Given the description of an element on the screen output the (x, y) to click on. 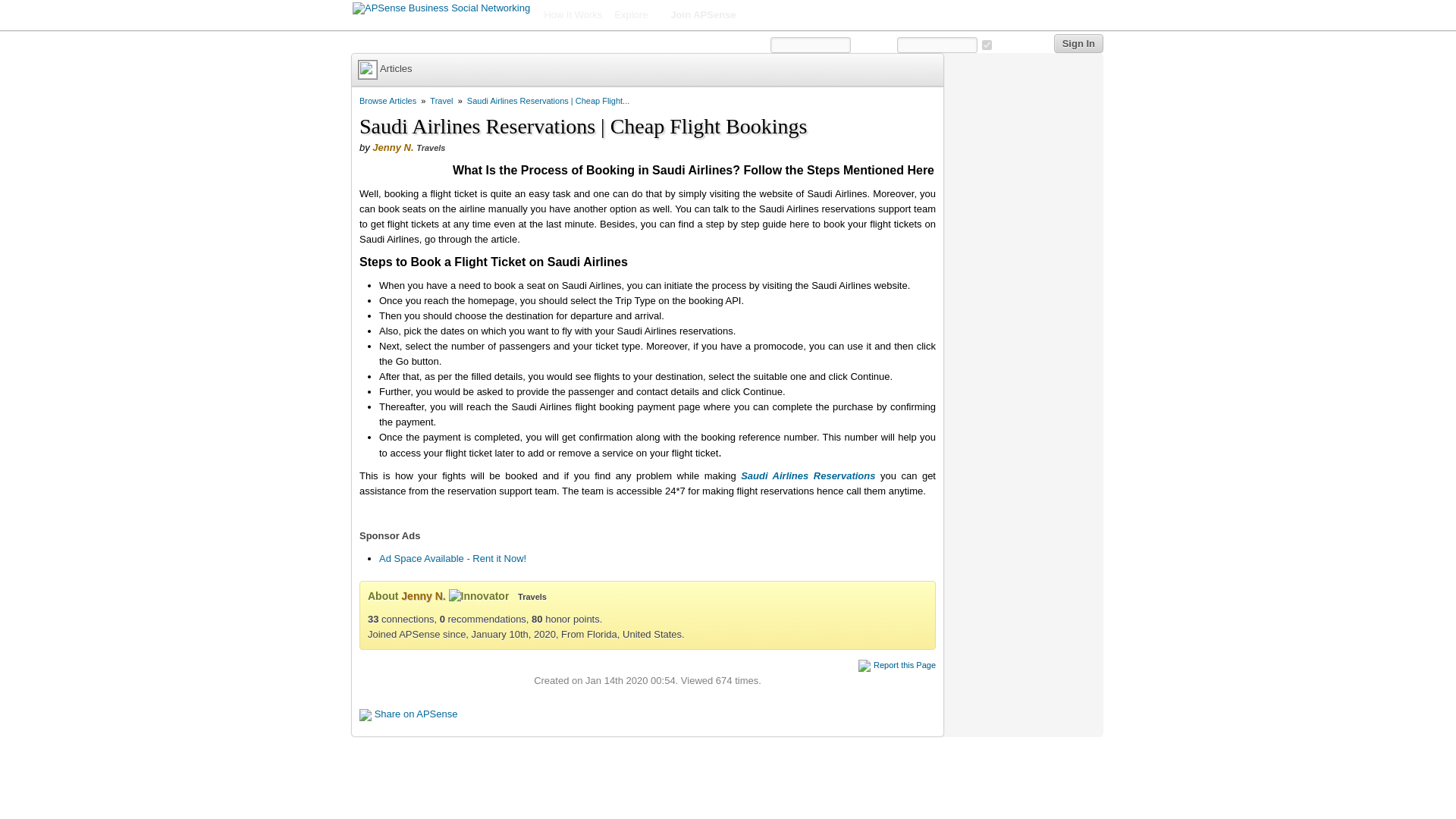
Ad Space Available - Rent it Now! (451, 558)
Saudi Airlines Reservations (808, 475)
Sign In (1078, 43)
1 (986, 44)
Report this Page (904, 664)
Share on APSense (416, 713)
Browse Articles (387, 100)
How It Works (572, 15)
Jenny N. (392, 147)
Explore (635, 15)
Innovator (478, 596)
Jenny N. (423, 595)
Travel (440, 100)
Join APSense (702, 15)
Share on APSense (416, 713)
